Given the description of an element on the screen output the (x, y) to click on. 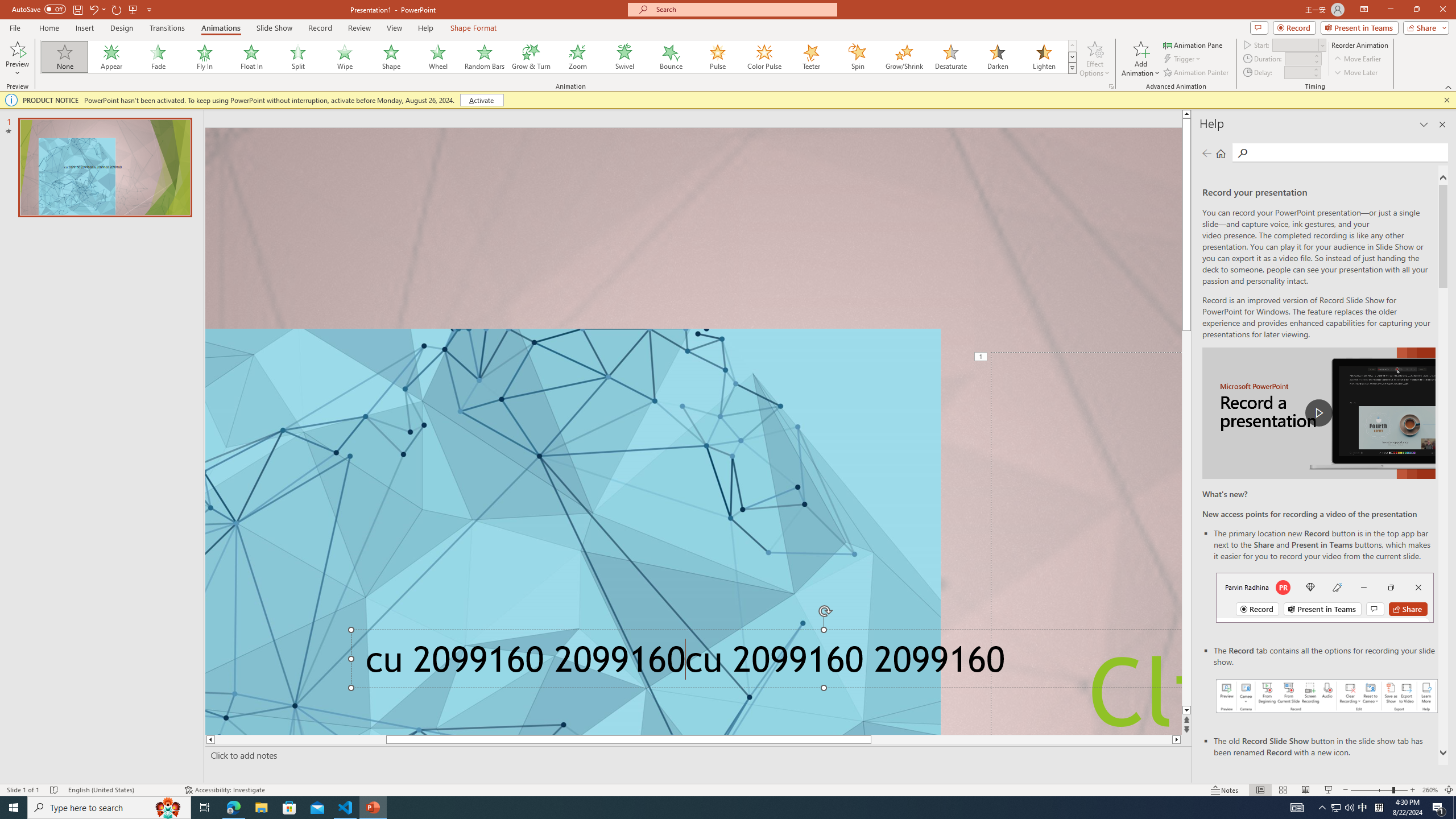
Split (298, 56)
Lighten (1043, 56)
Random Bars (484, 56)
Darken (997, 56)
Teeter (810, 56)
Trigger (1182, 58)
Desaturate (950, 56)
More Options... (1110, 85)
Fly In (205, 56)
Grow & Turn (531, 56)
